Given the description of an element on the screen output the (x, y) to click on. 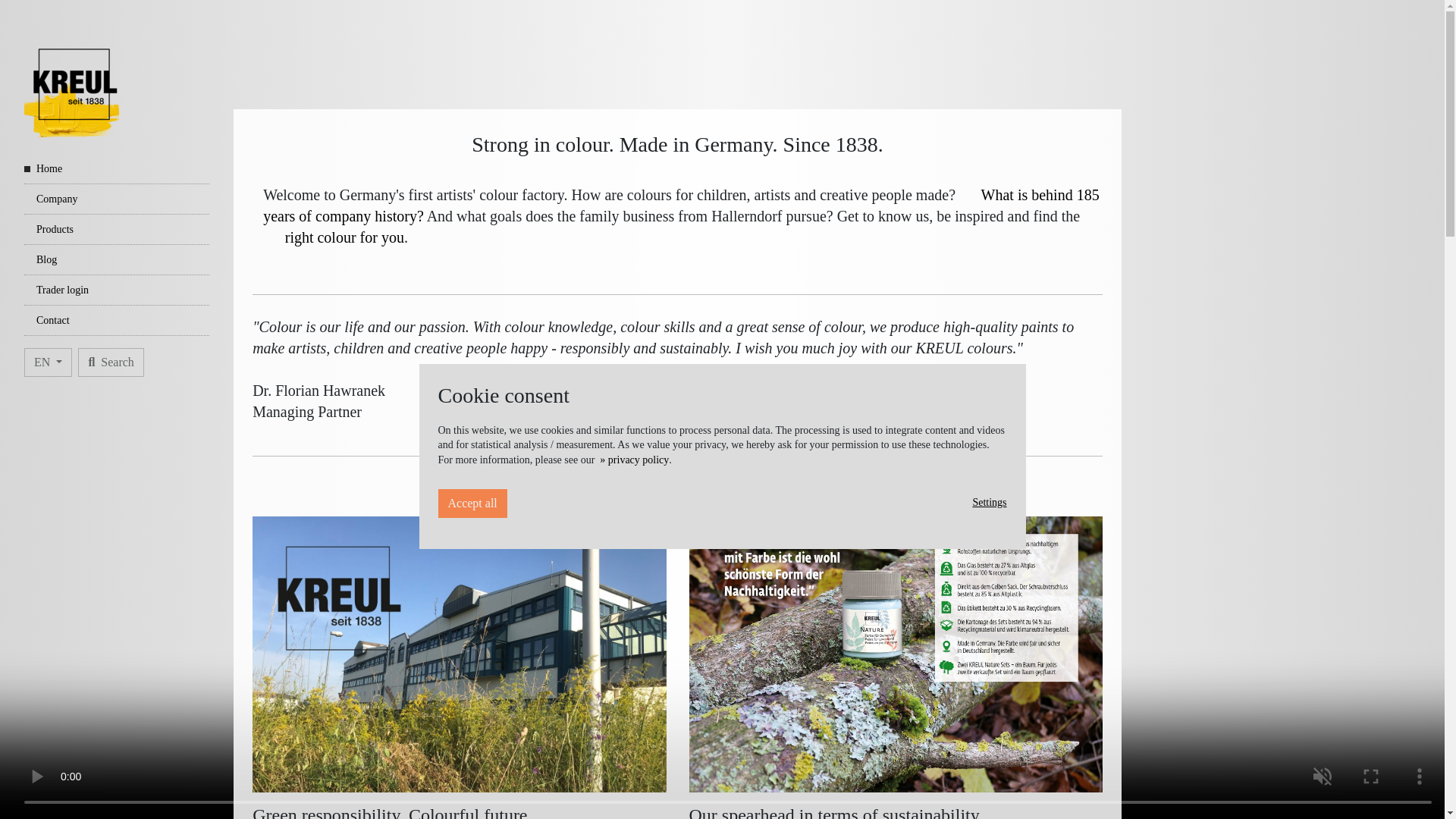
Company (116, 199)
Trader login (116, 290)
Products (116, 229)
Search (110, 362)
Blog (116, 259)
Available Languages (47, 362)
Home (116, 168)
EN (47, 362)
Contact (116, 320)
